Given the description of an element on the screen output the (x, y) to click on. 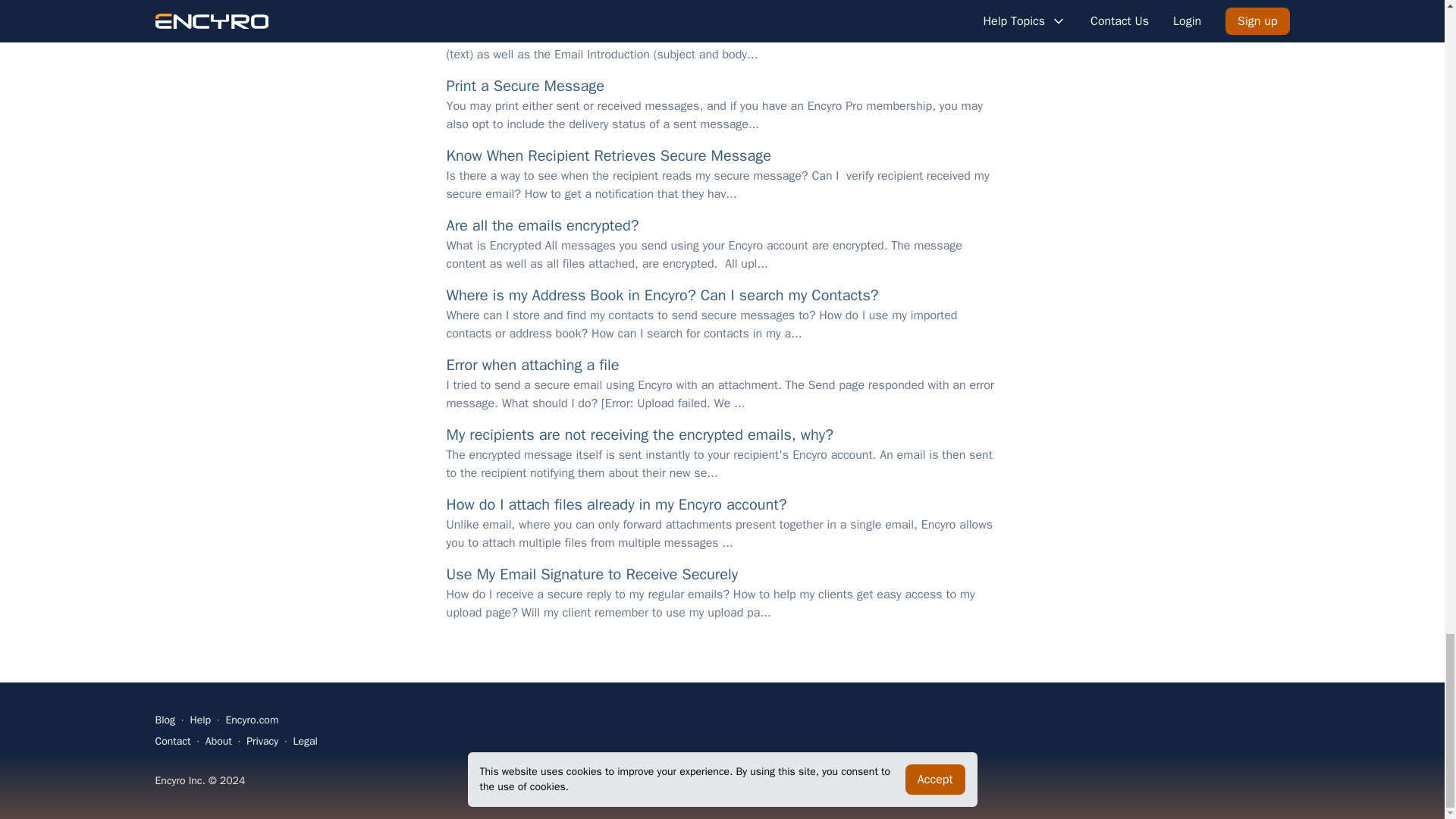
Print a Secure Message (524, 87)
How to Use Templates? (524, 17)
My recipients are not receiving the encrypted emails, why? (638, 435)
Contact (172, 741)
How do I attach files already in my Encyro account? (615, 505)
About (218, 741)
Legal (304, 741)
Know When Recipient Retrieves Secure Message (608, 156)
Help (200, 720)
Error when attaching a file (531, 365)
